Given the description of an element on the screen output the (x, y) to click on. 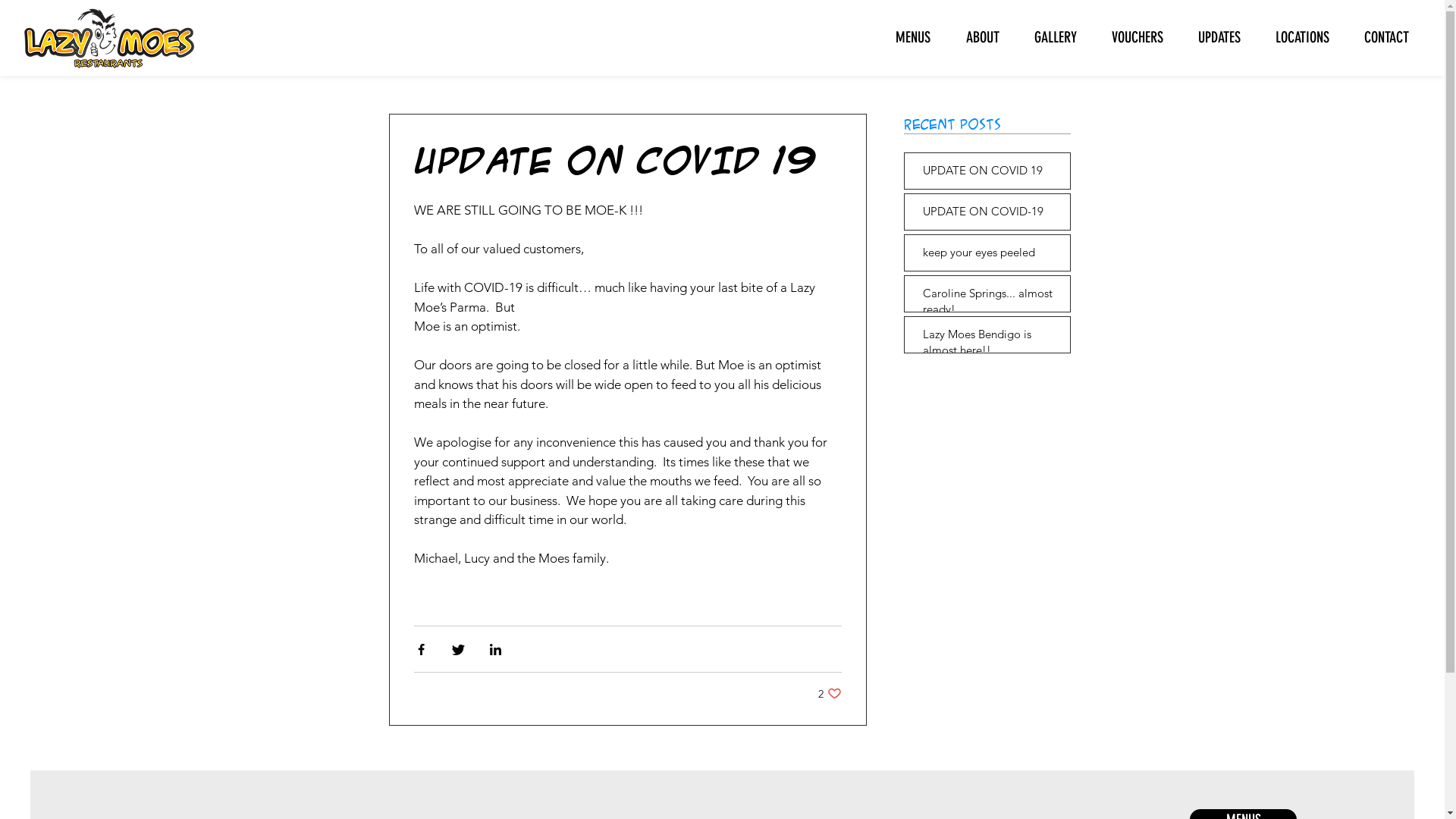
keep your eyes peeled Element type: text (991, 255)
VOUCHERS Element type: text (1131, 37)
MENUS Element type: text (906, 37)
Caroline Springs... almost ready! Element type: text (991, 304)
GALLERY Element type: text (1049, 37)
UPDATES Element type: text (1213, 37)
LOCATIONS Element type: text (1296, 37)
UPDATE ON COVID-19 Element type: text (991, 214)
UPDATE ON COVID 19 Element type: text (991, 173)
Lazy Moes Bendigo is almost here!! Element type: text (991, 345)
2 likes. Post not marked as liked
2 Element type: text (828, 693)
ABOUT Element type: text (975, 37)
CONTACT Element type: text (1380, 37)
